Given the description of an element on the screen output the (x, y) to click on. 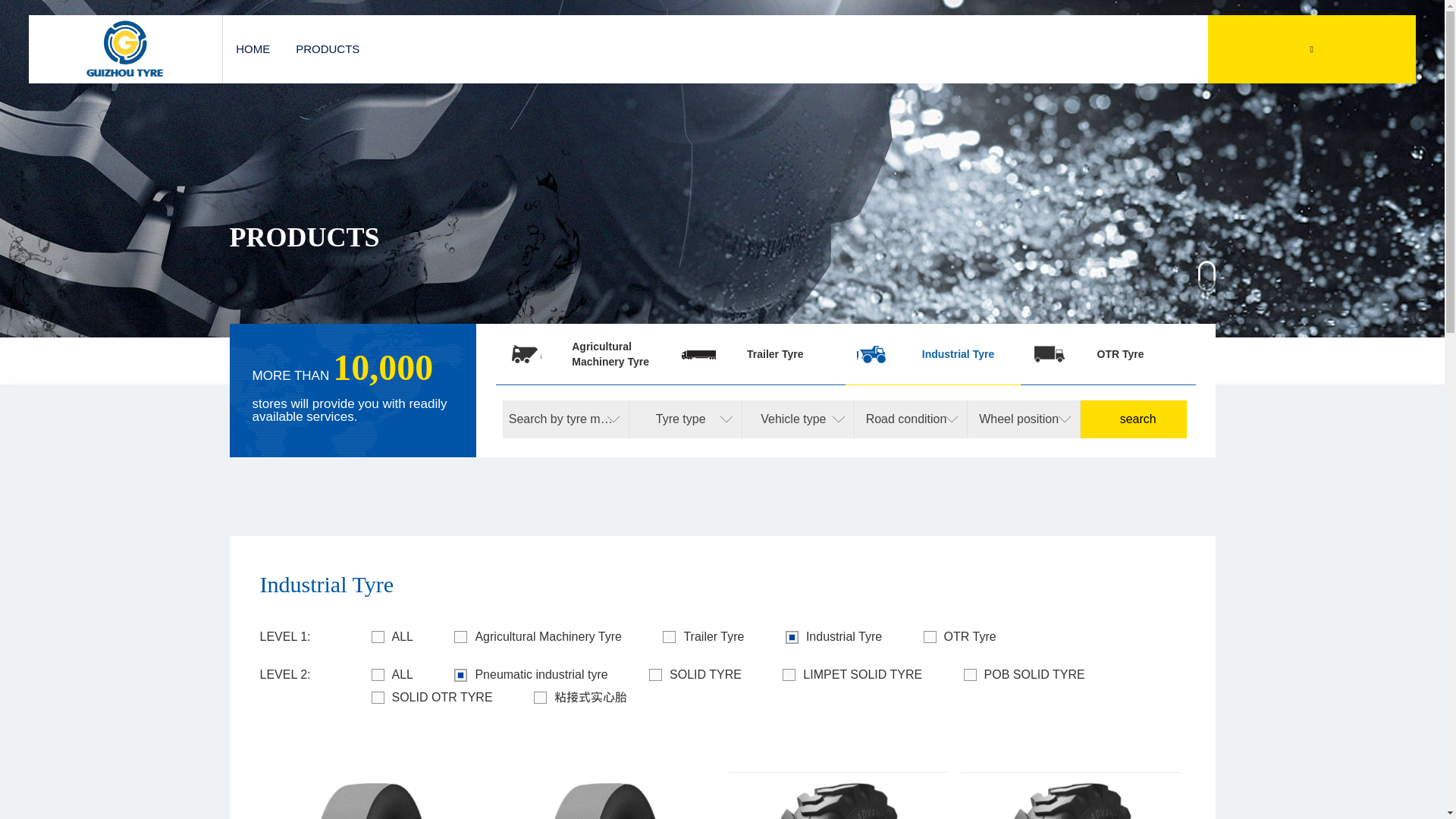
ALL (391, 674)
Pneumatic industrial tyre (530, 674)
Agricultural Machinery Tyre (537, 636)
Trailer Tyre (702, 636)
Home (258, 359)
PRODUCTS (327, 49)
Products (340, 359)
Industrial Tyre (834, 636)
SOLID TYRE (695, 674)
OTR Tyre (959, 636)
ALL (391, 636)
